Given the description of an element on the screen output the (x, y) to click on. 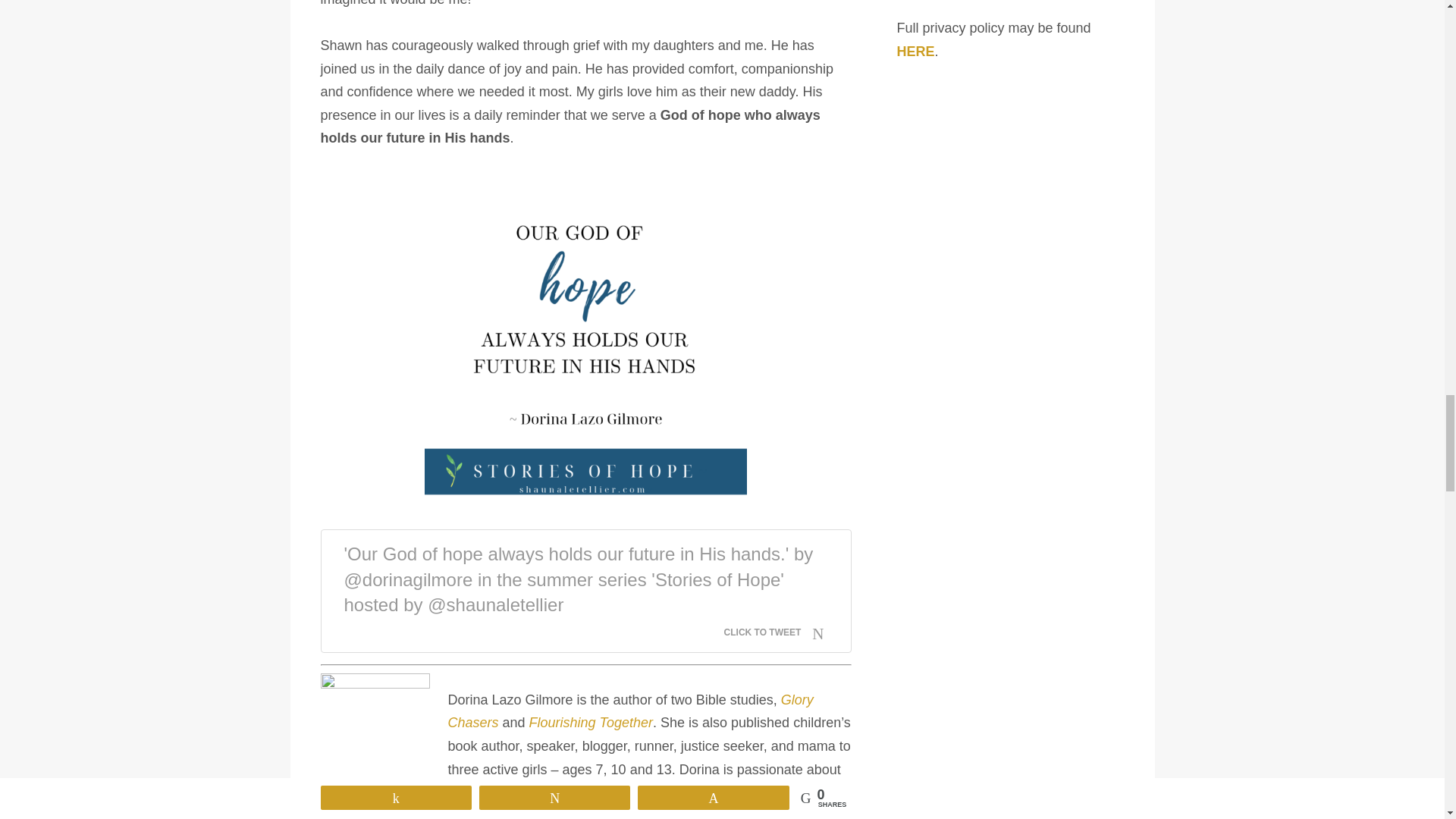
Facebook author page (647, 813)
www.DorinaGilmore.com (610, 813)
Flourishing Together (590, 722)
Glory Chasers (629, 711)
